Given the description of an element on the screen output the (x, y) to click on. 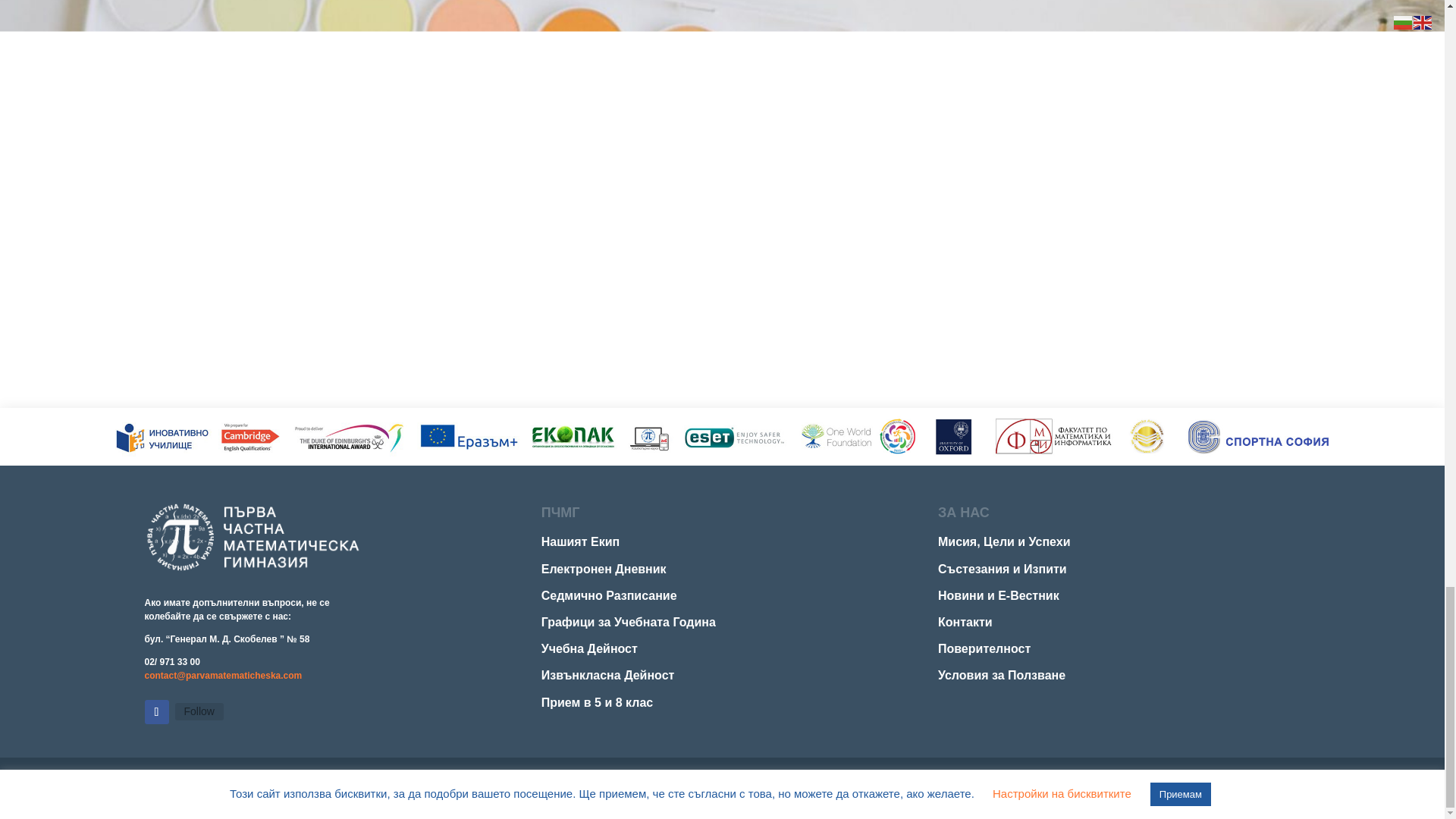
Follow on Facebook (156, 711)
Facebook (198, 710)
